Given the description of an element on the screen output the (x, y) to click on. 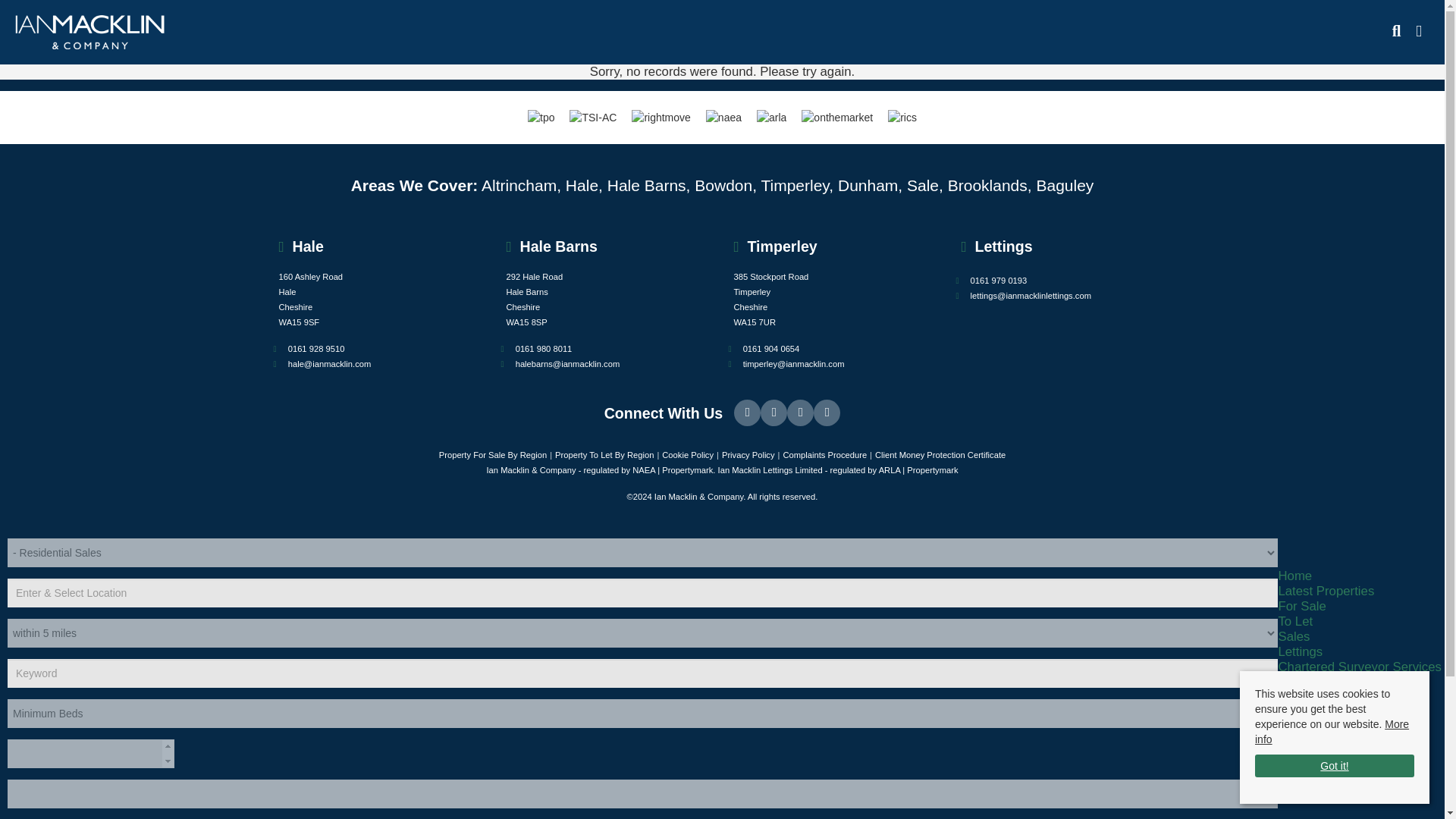
Privacy Policy (748, 454)
Property To Let By Region (604, 454)
More info (1332, 726)
Client Money Protection Certificate (940, 454)
Complaints Procedure (823, 454)
Cookie Policy (687, 454)
Got it! (1334, 763)
Property For Sale By Region (493, 454)
